Given the description of an element on the screen output the (x, y) to click on. 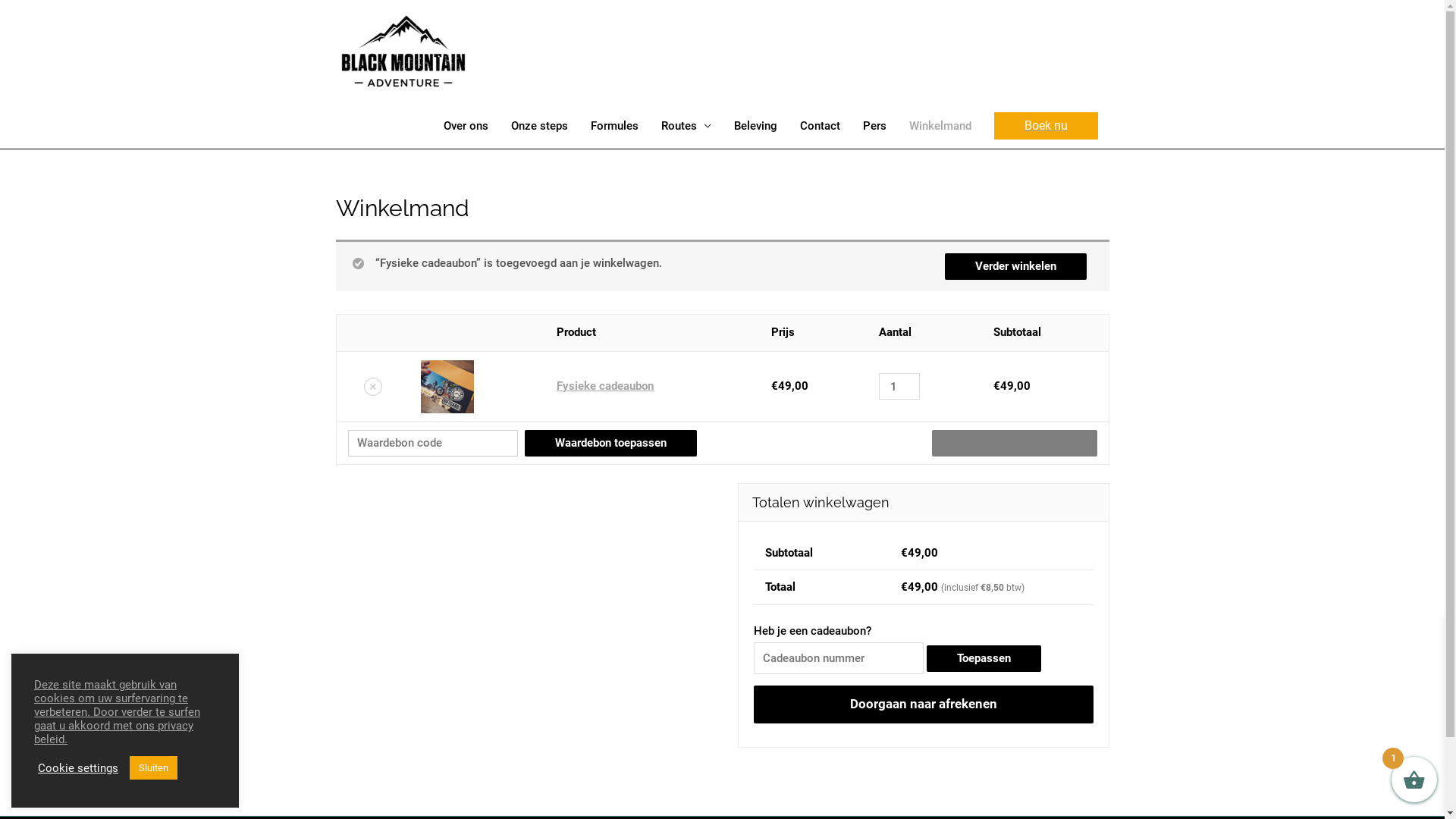
Verder winkelen Element type: text (1015, 266)
Cookie settings Element type: text (77, 768)
Fysieke cadeaubon Element type: text (604, 385)
Sluiten Element type: text (153, 767)
Contact Element type: text (819, 125)
Waardebon toepassen Element type: text (610, 442)
Onze steps Element type: text (538, 125)
Beleving Element type: text (754, 125)
Boek nu Element type: text (1045, 125)
Formules Element type: text (614, 125)
Over ons Element type: text (465, 125)
Toepassen Element type: text (983, 658)
Pers Element type: text (873, 125)
Winkelmand Element type: text (939, 125)
Doorgaan naar afrekenen Element type: text (923, 704)
Update winkelwagen Element type: text (1013, 442)
Routes Element type: text (685, 125)
